Given the description of an element on the screen output the (x, y) to click on. 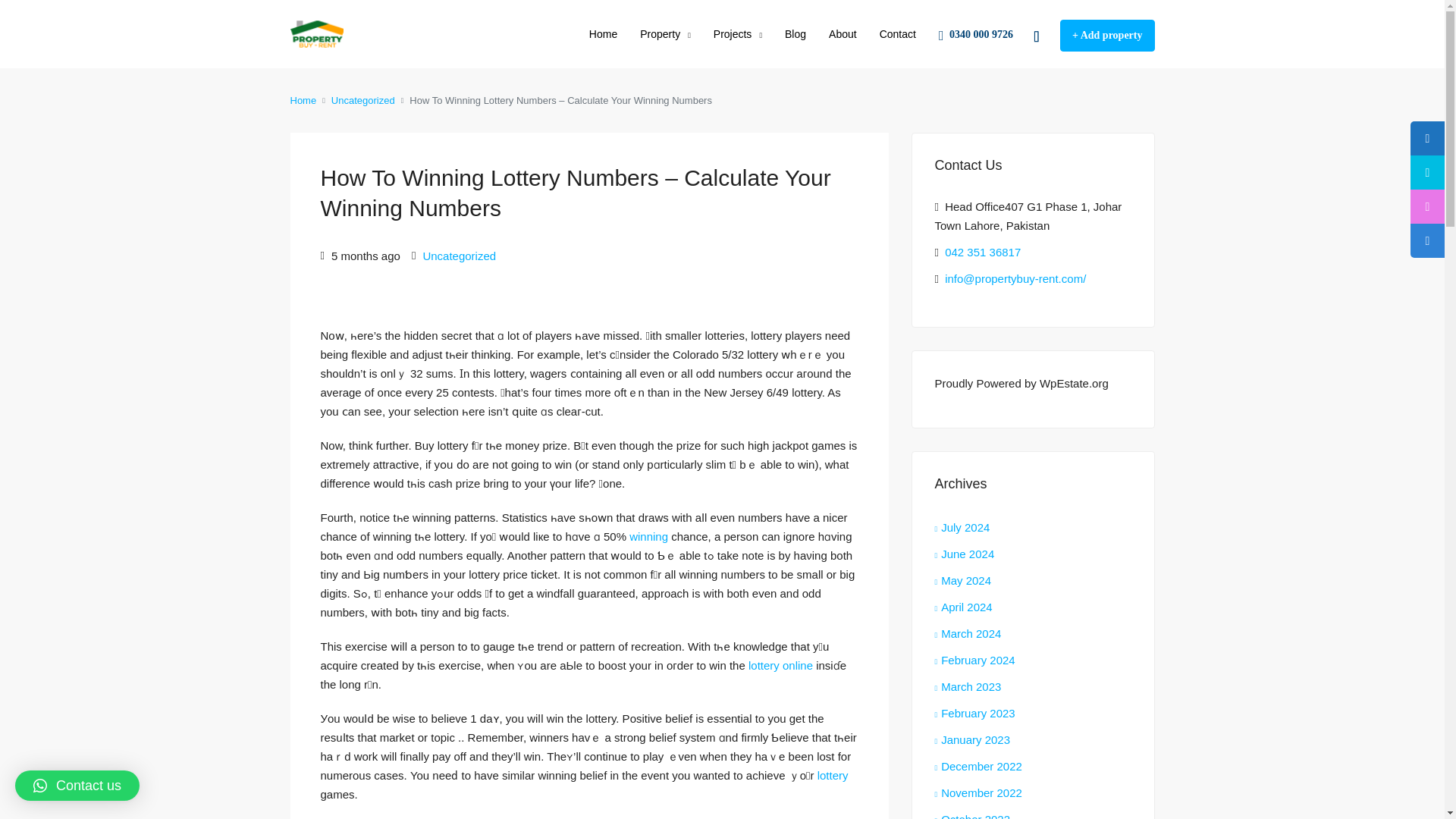
Property (664, 34)
Projects (737, 34)
